Given the description of an element on the screen output the (x, y) to click on. 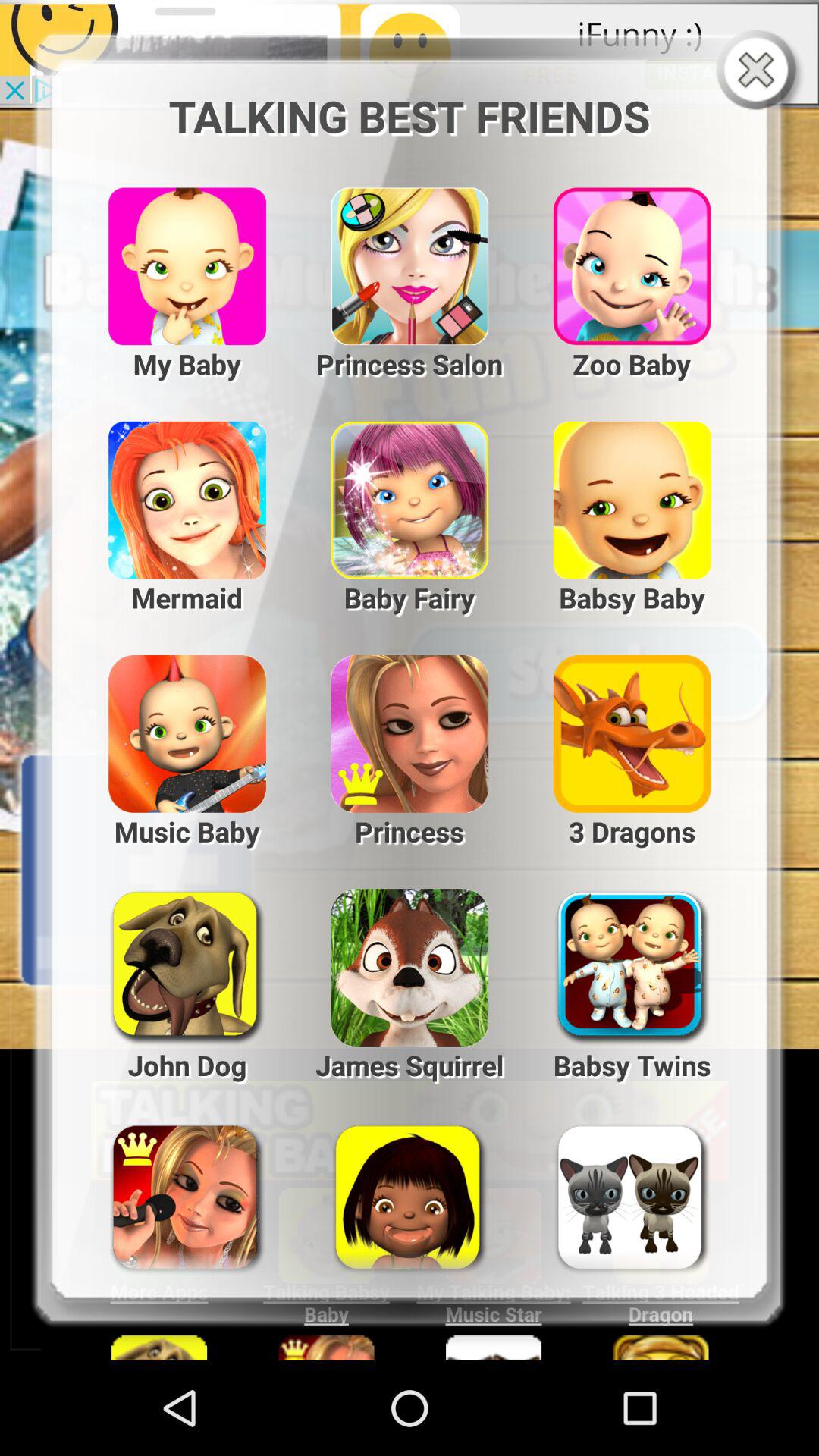
close the popup (759, 71)
